Given the description of an element on the screen output the (x, y) to click on. 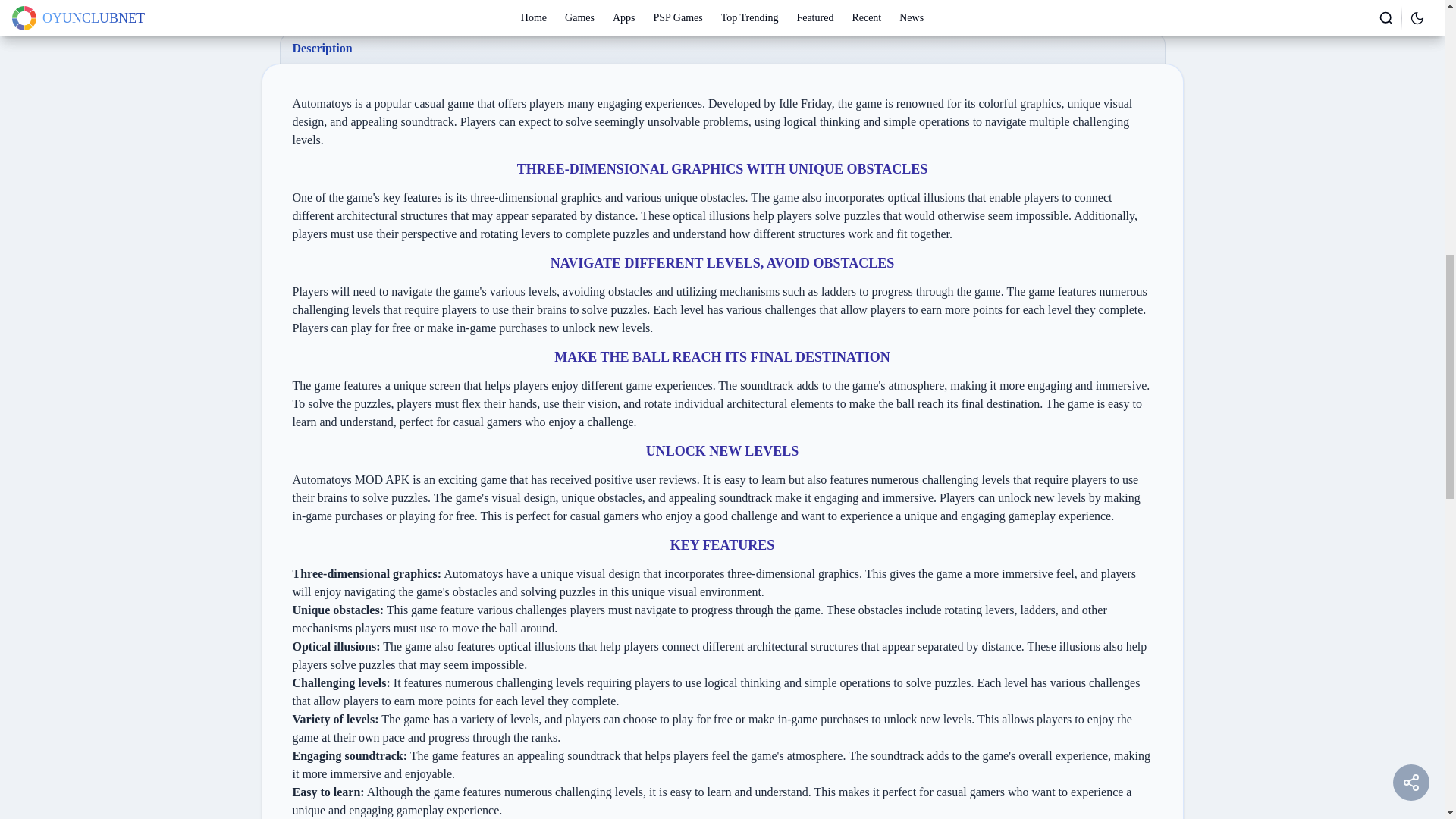
Description (721, 47)
